Given the description of an element on the screen output the (x, y) to click on. 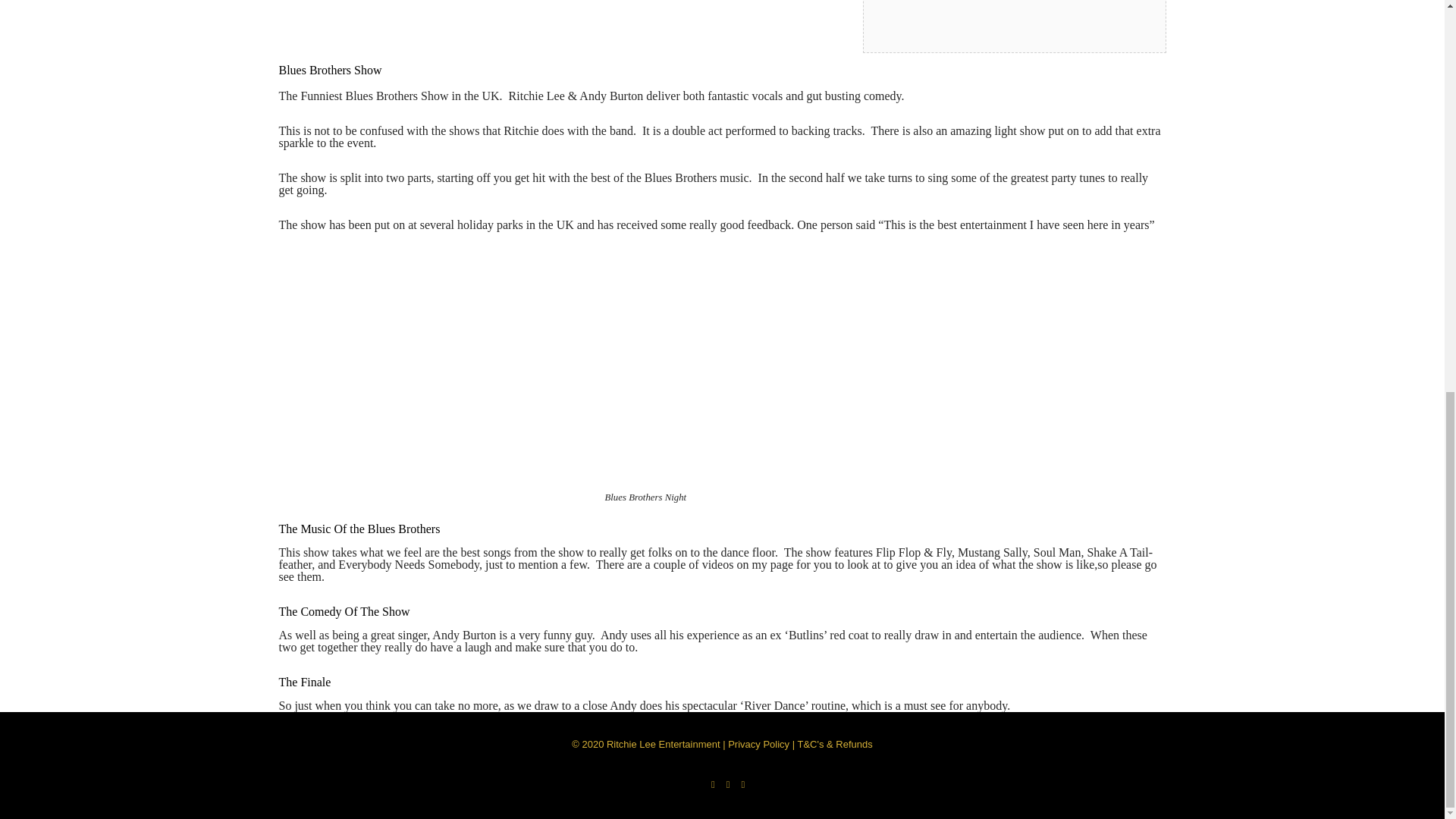
Privacy Policy (758, 744)
